Given the description of an element on the screen output the (x, y) to click on. 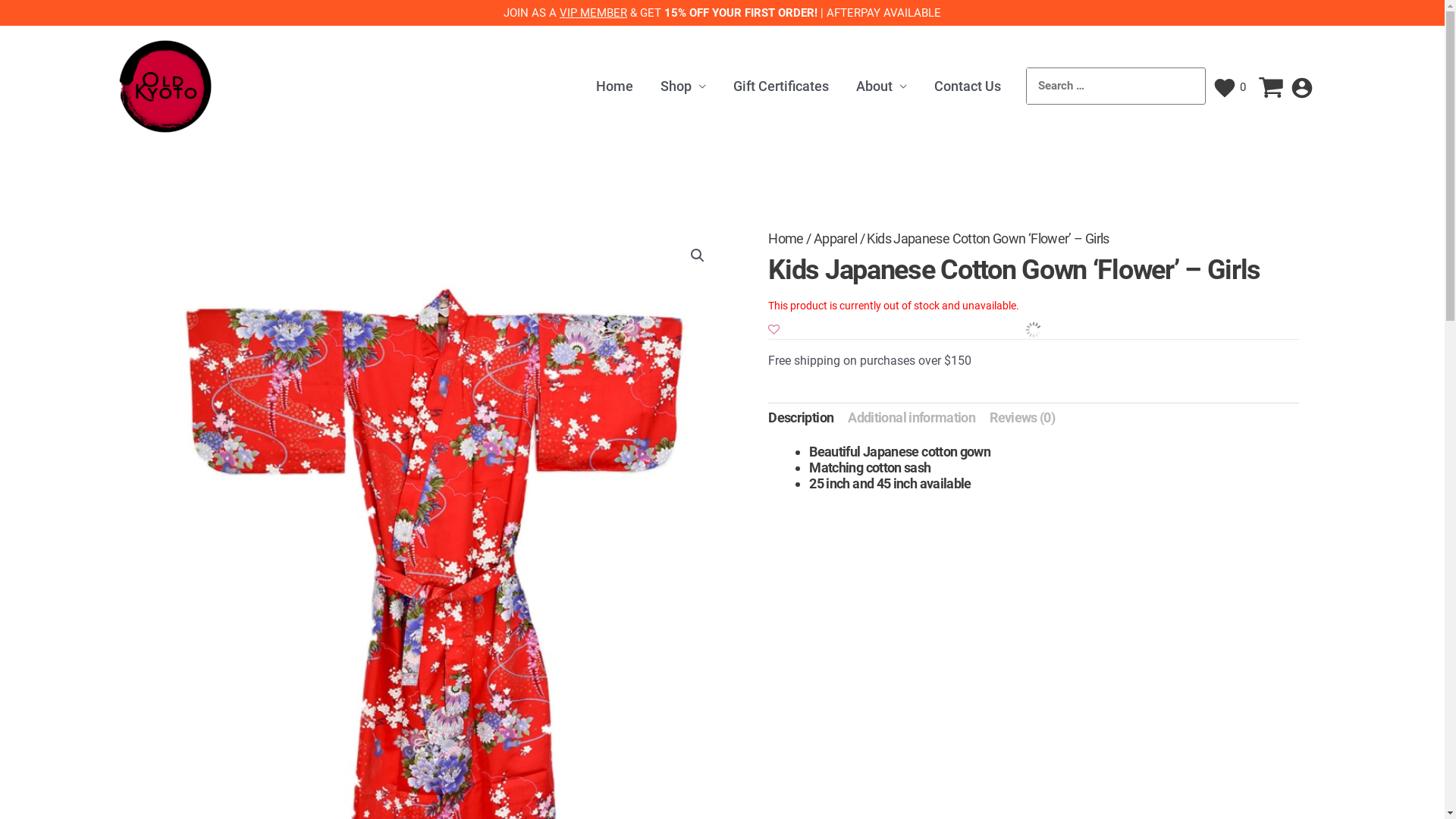
Home Element type: text (785, 238)
Shop Element type: text (682, 86)
Description Element type: text (800, 417)
Gift Certificates Element type: text (780, 86)
About Element type: text (881, 86)
Apparel Element type: text (835, 238)
Additional information Element type: text (911, 417)
Contact Us Element type: text (967, 86)
Home Element type: text (614, 86)
0 Element type: text (1228, 87)
Reviews (0) Element type: text (1021, 417)
